Given the description of an element on the screen output the (x, y) to click on. 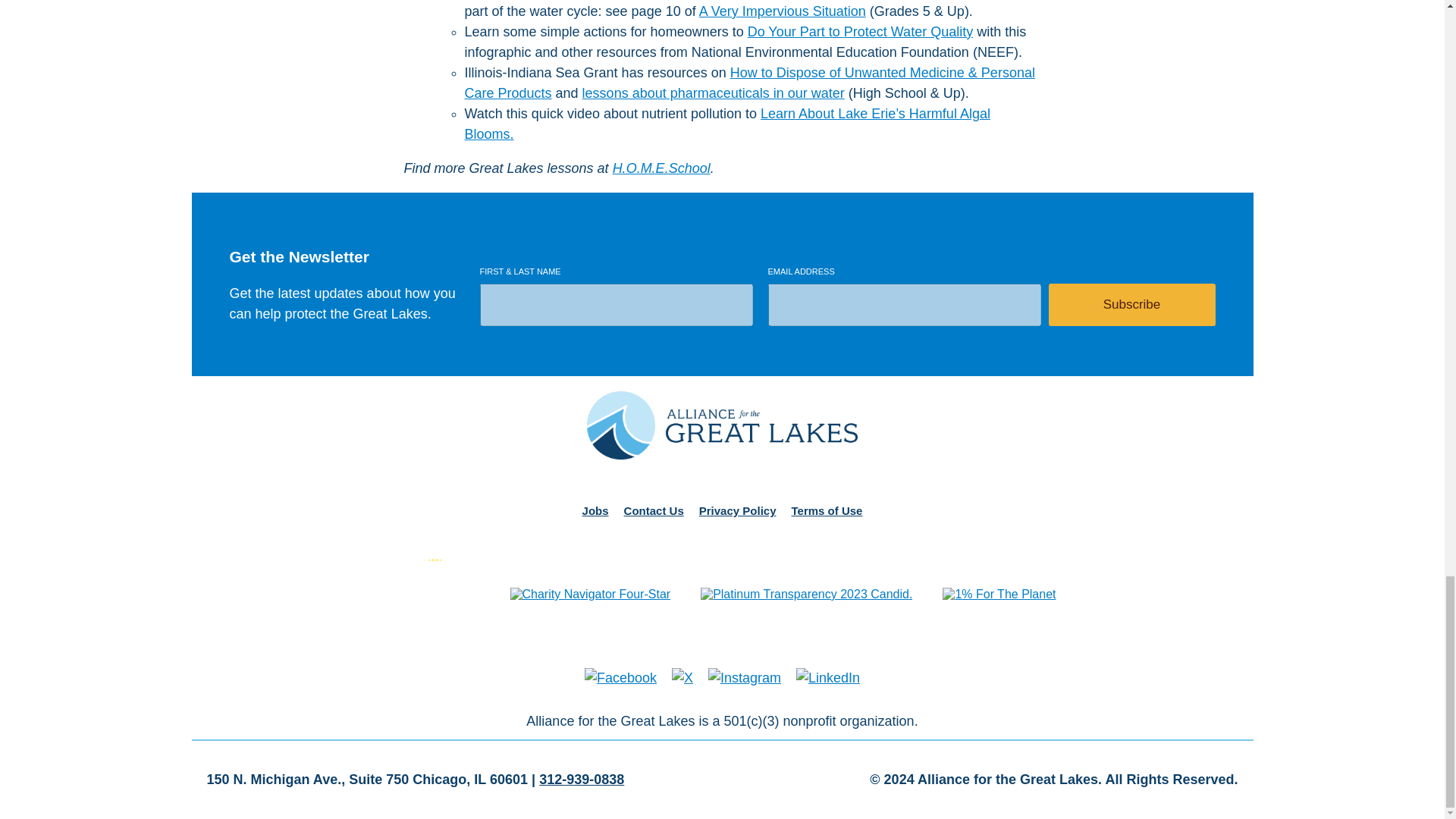
Privacy Policy (737, 510)
Contact Us (654, 510)
H.O.M.E.School (661, 168)
Subscribe (1131, 304)
lessons about pharmaceuticals in our water (713, 92)
Do Your Part to Protect Water Quality (860, 31)
A Very Impervious Situation (782, 11)
Alliance for the Great Lakes (721, 426)
Terms of Use (827, 510)
Jobs (595, 510)
